Given the description of an element on the screen output the (x, y) to click on. 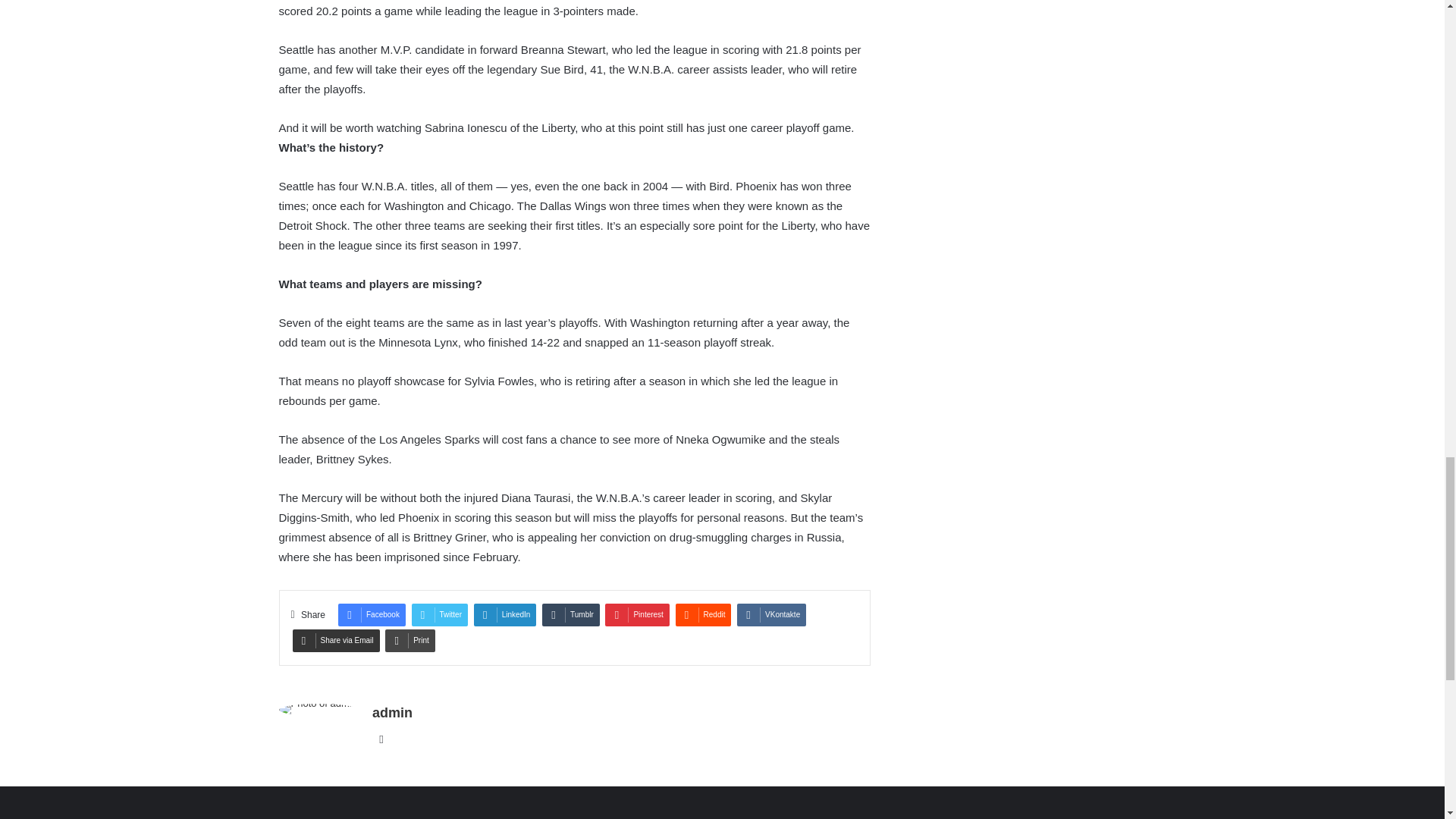
Tumblr (570, 614)
Twitter (439, 614)
LinkedIn (505, 614)
Facebook (371, 614)
